Given the description of an element on the screen output the (x, y) to click on. 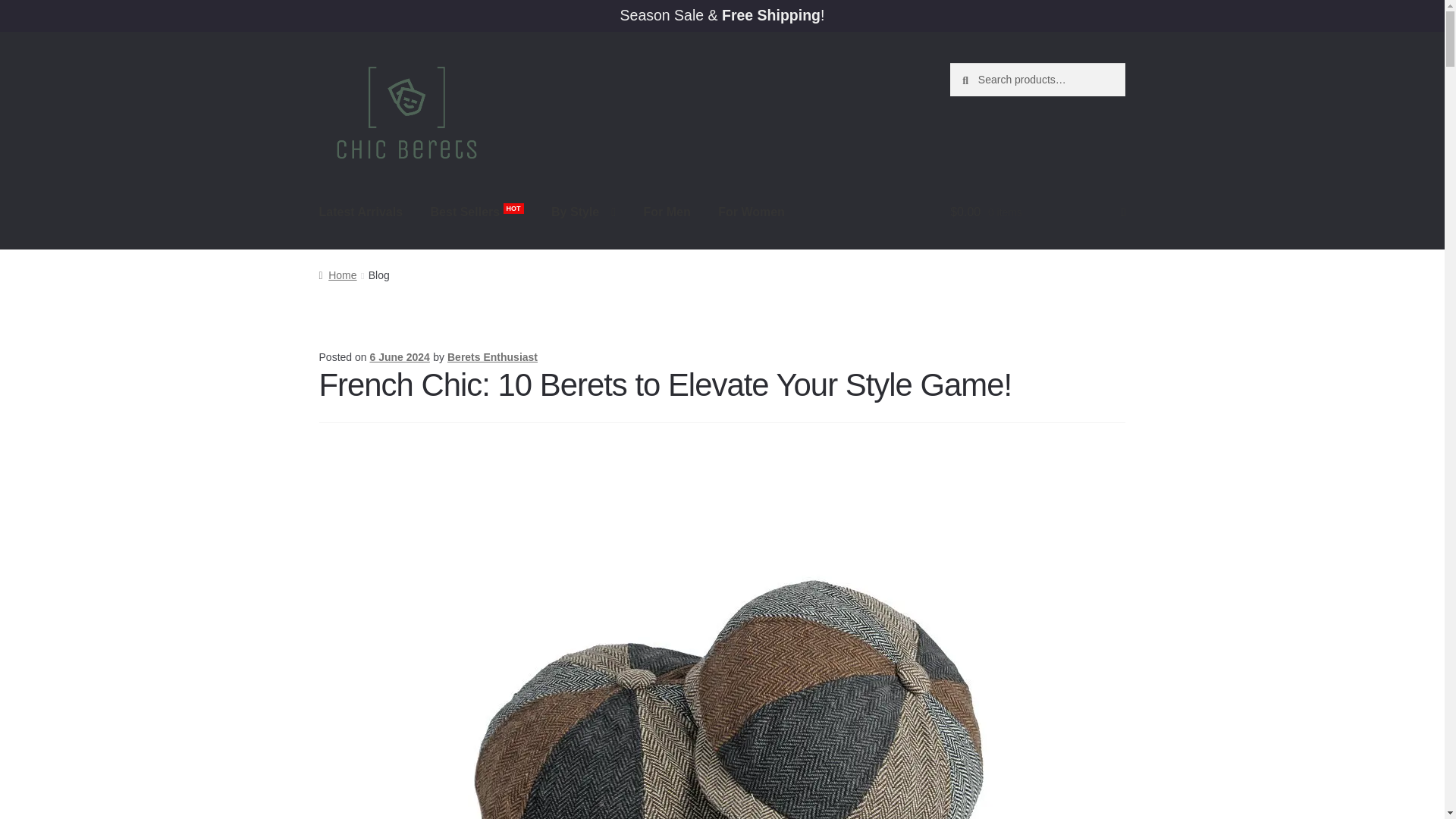
Latest Arrivals (360, 211)
Home (337, 275)
Best Sellers HOT (477, 211)
By Style (582, 211)
French Chic: 10 Berets to Elevate Your Style Game! (664, 384)
Berets Enthusiast (491, 357)
For Women (751, 211)
6 June 2024 (399, 357)
For Men (665, 211)
View your shopping cart (1037, 211)
